Given the description of an element on the screen output the (x, y) to click on. 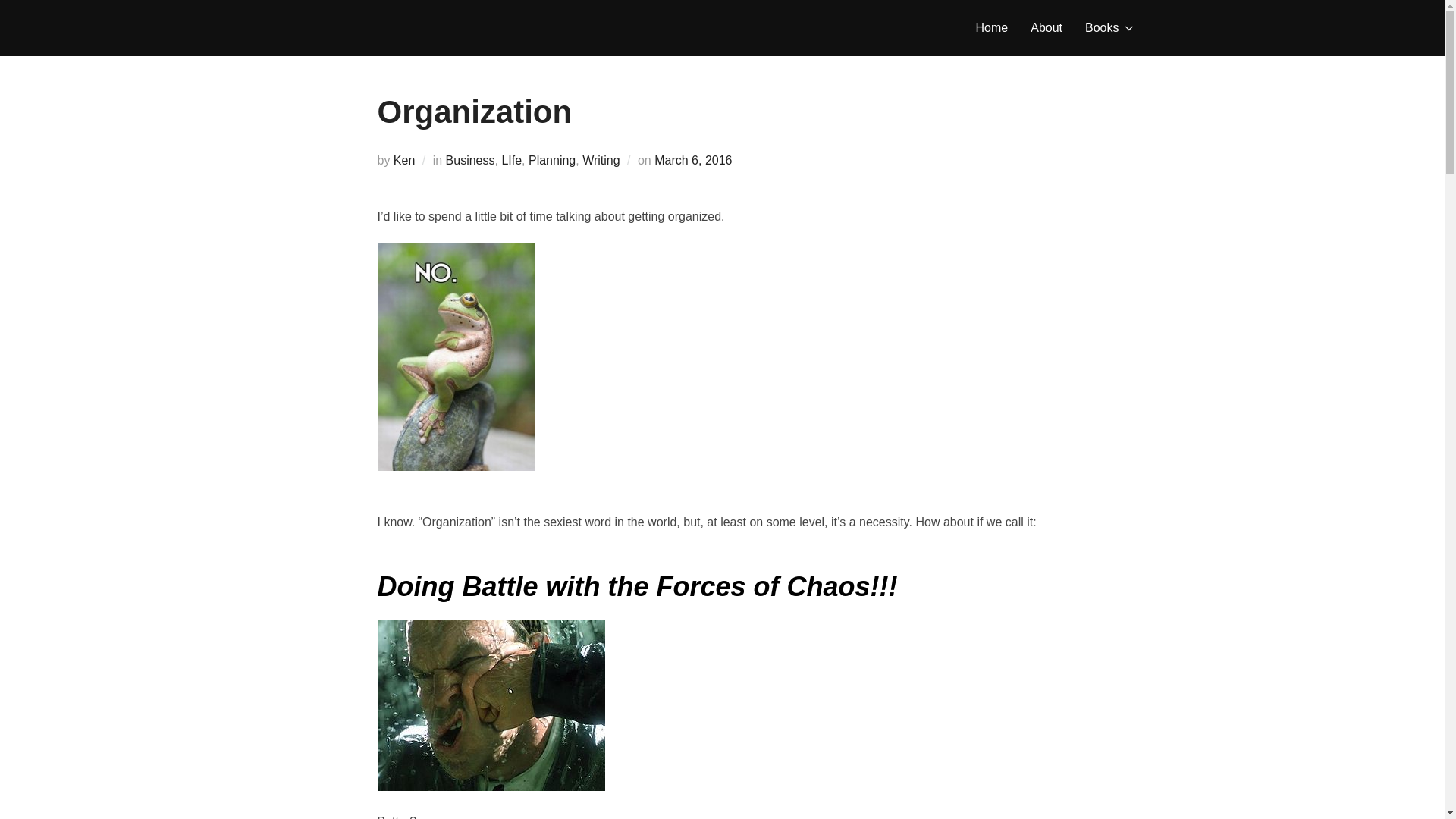
Ken (403, 160)
Books (1109, 27)
LIfe (510, 160)
March 6, 2016 (692, 160)
About (1046, 27)
Planning (551, 160)
Writing (601, 160)
Home (992, 27)
Business (470, 160)
